Given the description of an element on the screen output the (x, y) to click on. 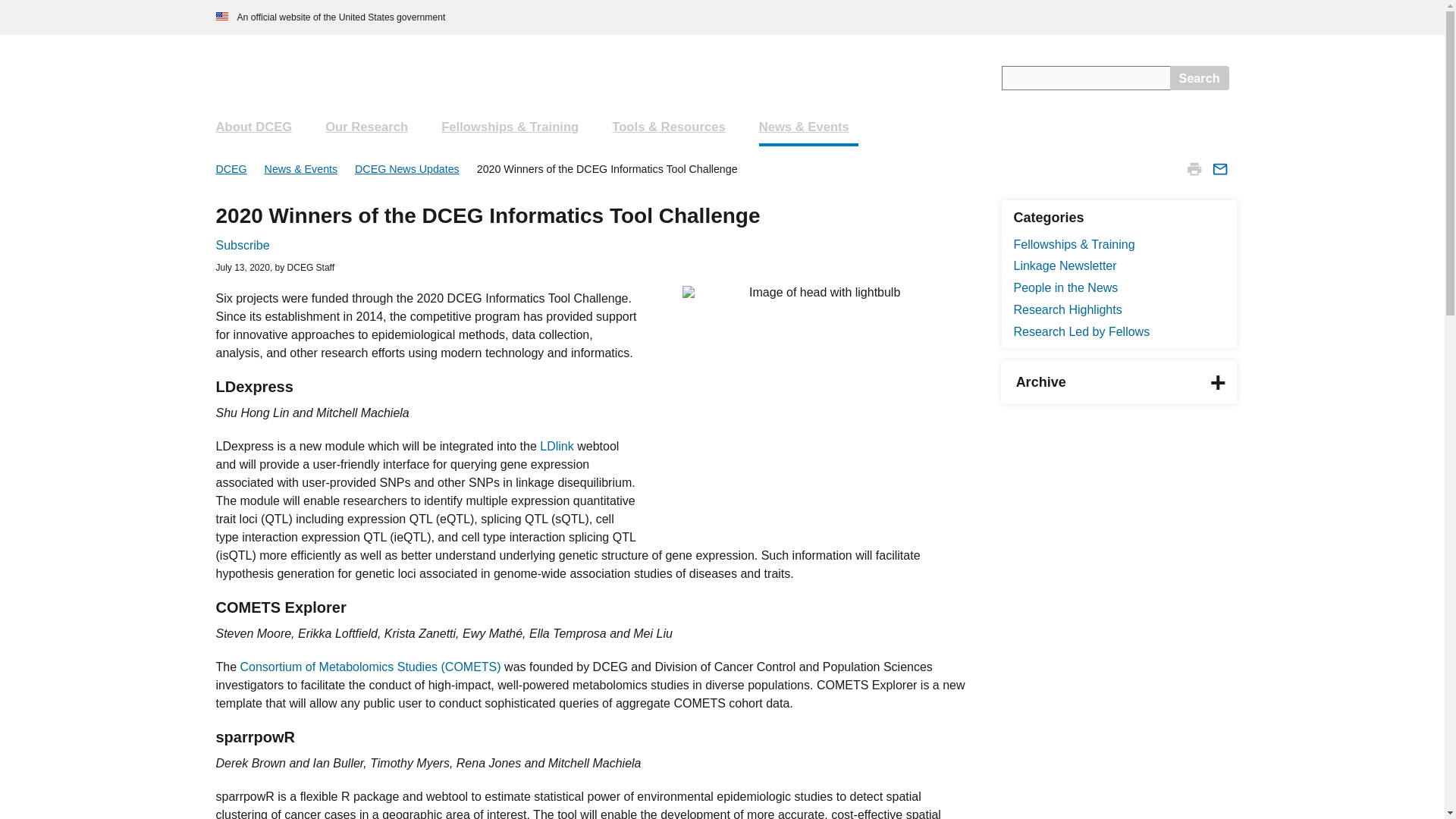
About DCEG (258, 127)
Our Research (371, 127)
Subscribe (242, 245)
LDlink (558, 445)
People in the News (1065, 287)
Research Highlights (1067, 309)
Research Led by Fellows (1081, 331)
DCEG (231, 168)
DCEG News Updates (409, 168)
Linkage Newsletter (1064, 265)
Search (1199, 78)
